Given the description of an element on the screen output the (x, y) to click on. 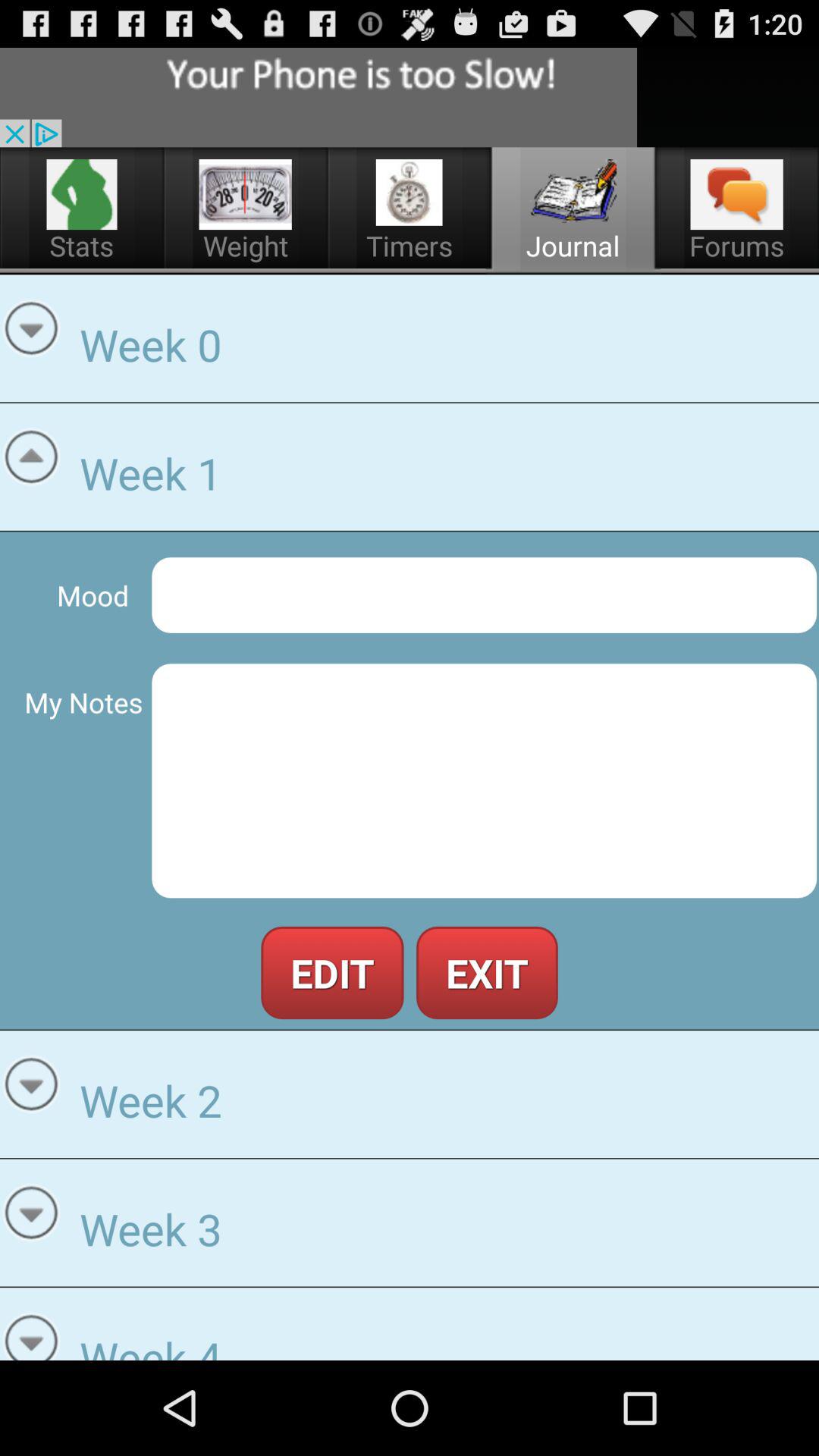
open advertisement (318, 97)
